Given the description of an element on the screen output the (x, y) to click on. 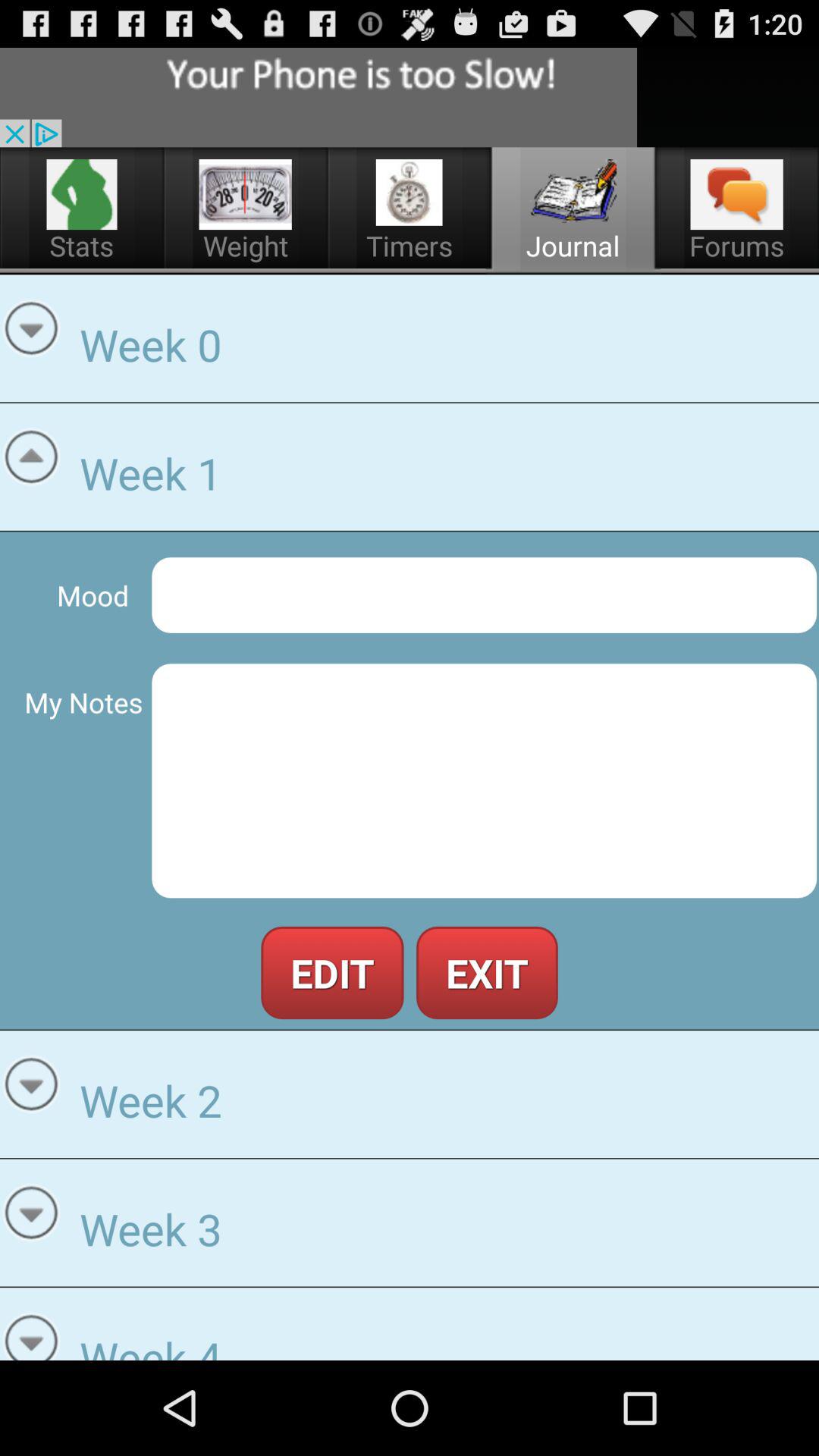
open advertisement (318, 97)
